Given the description of an element on the screen output the (x, y) to click on. 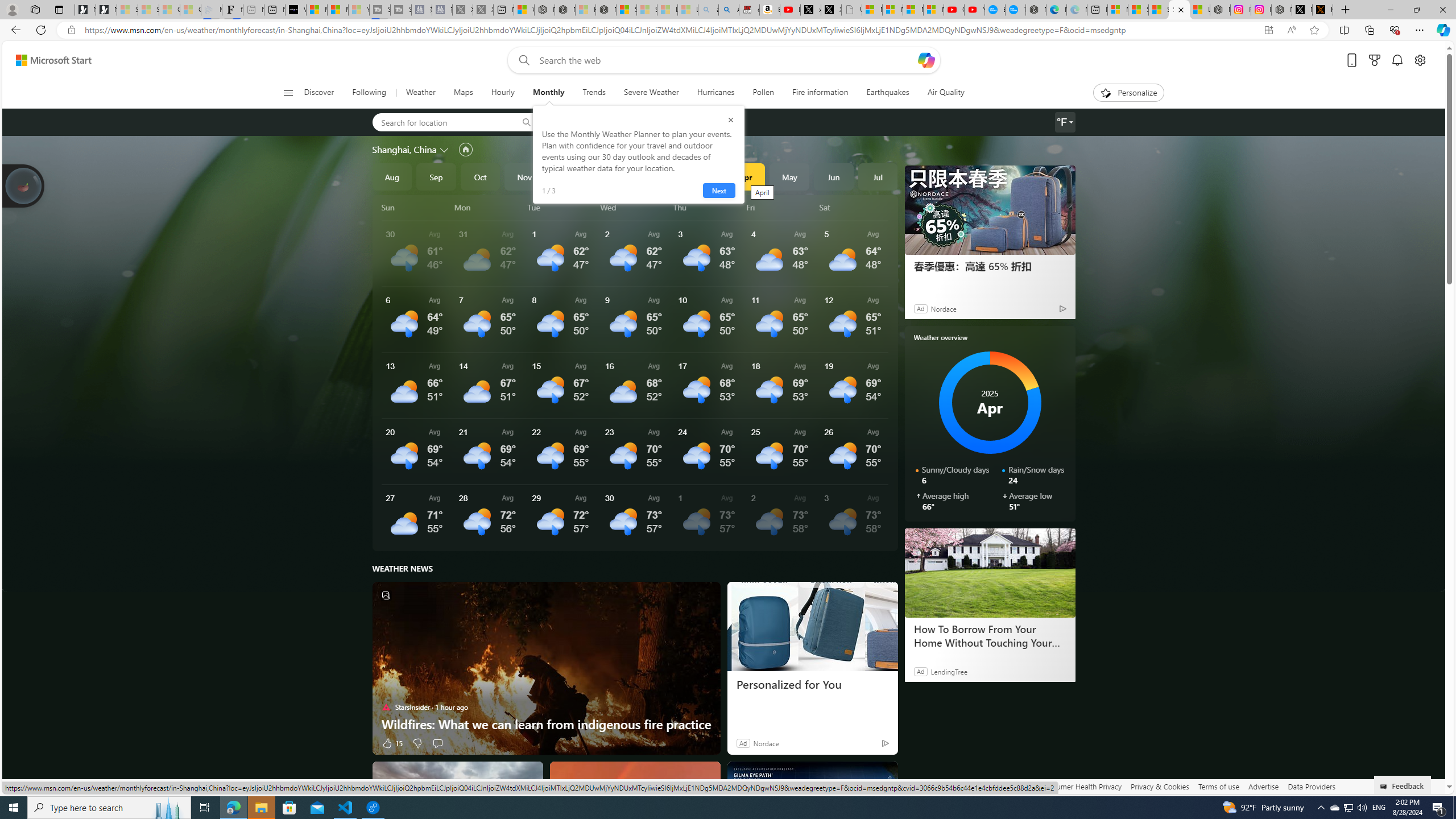
Advertise (1263, 786)
Untitled (851, 9)
Aberdeen (576, 121)
Notifications (1397, 60)
amazon - Search - Sleeping (708, 9)
Consumer Health Privacy (1080, 786)
Personalize (1128, 92)
Consumer Health Privacy (1080, 785)
Nordace - Nordace has arrived Hong Kong (1035, 9)
Oct (480, 176)
